Given the description of an element on the screen output the (x, y) to click on. 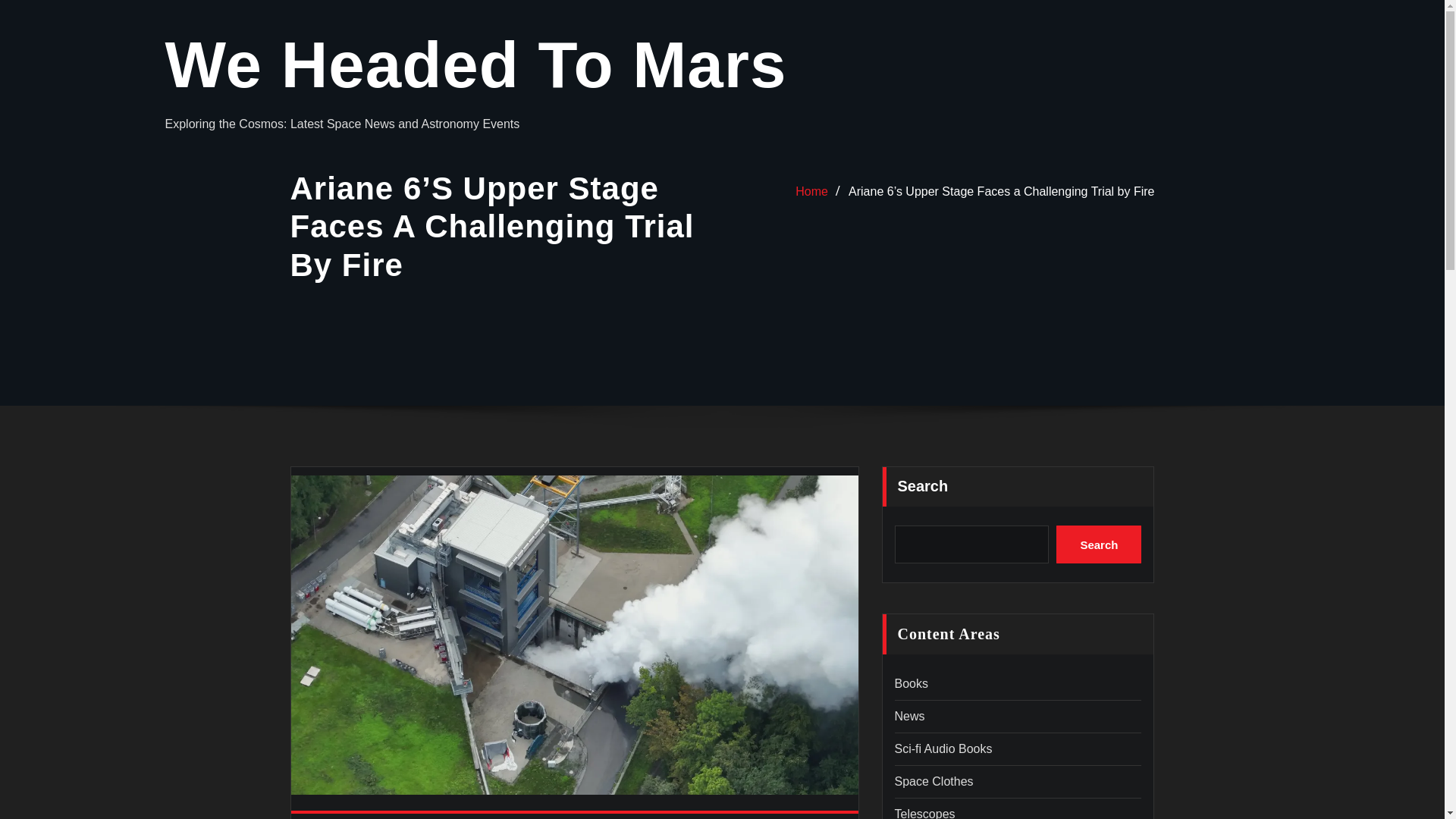
Sci-fi Audio Books (943, 748)
Search (1099, 544)
Space Clothes (934, 780)
Books (911, 683)
News (909, 716)
We Headed To Mars (476, 64)
Home (811, 191)
Telescopes (925, 813)
